Given the description of an element on the screen output the (x, y) to click on. 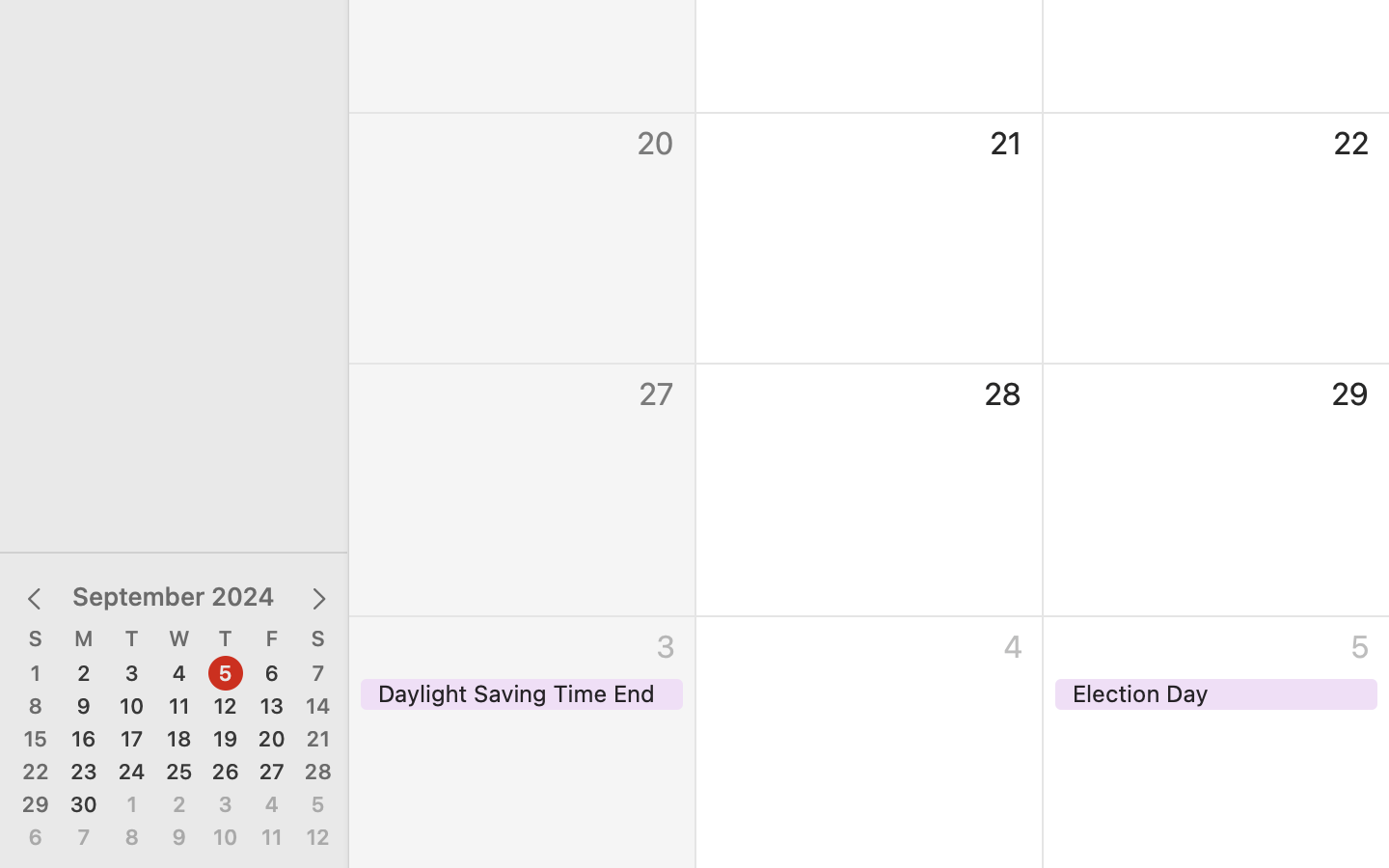
9 Element type: AXStaticText (83, 706)
28 Element type: AXStaticText (318, 772)
22 Element type: AXStaticText (35, 772)
4 Element type: AXStaticText (271, 804)
13 Element type: AXStaticText (271, 706)
